Given the description of an element on the screen output the (x, y) to click on. 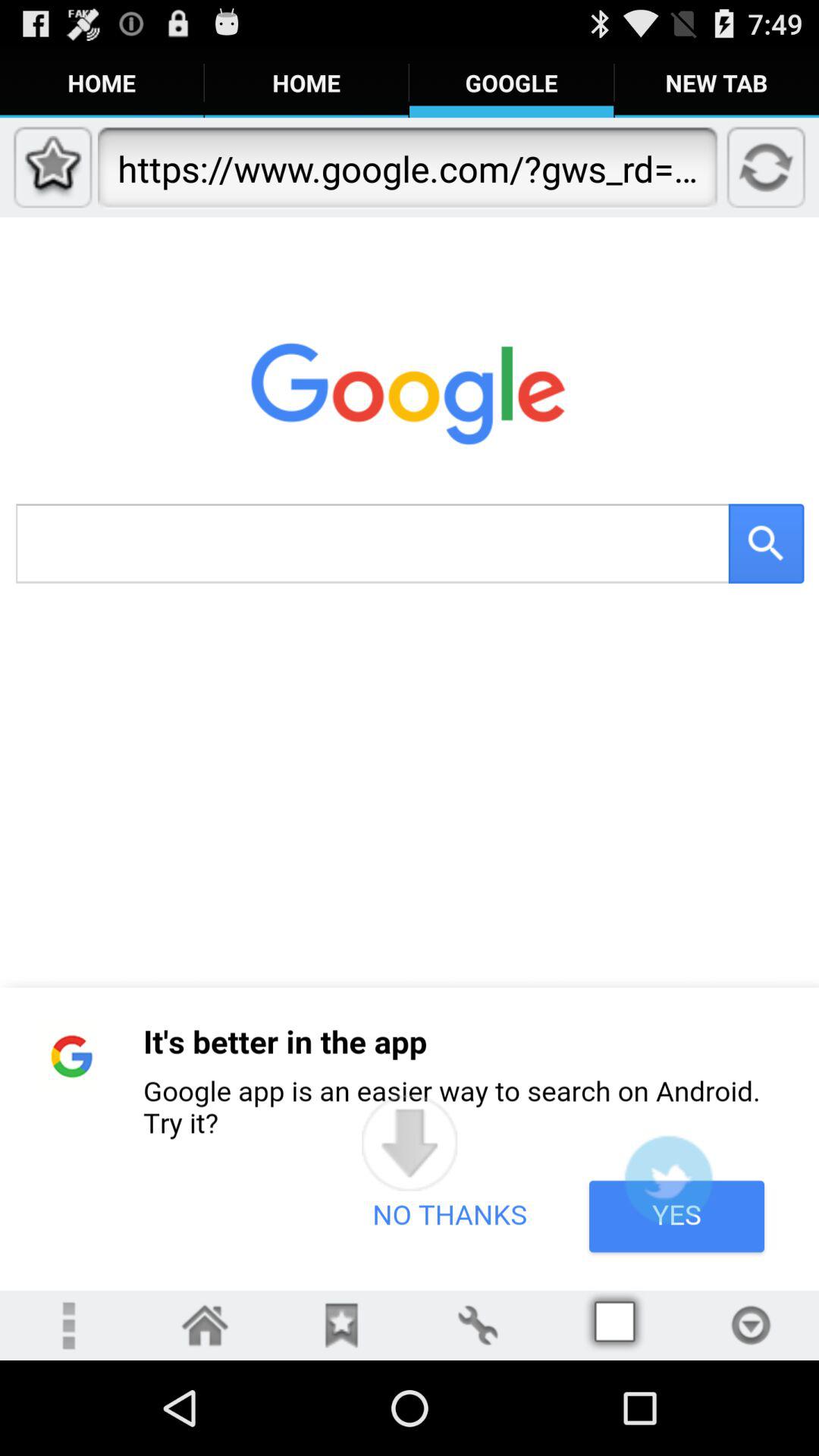
twitter page (668, 1179)
